Given the description of an element on the screen output the (x, y) to click on. 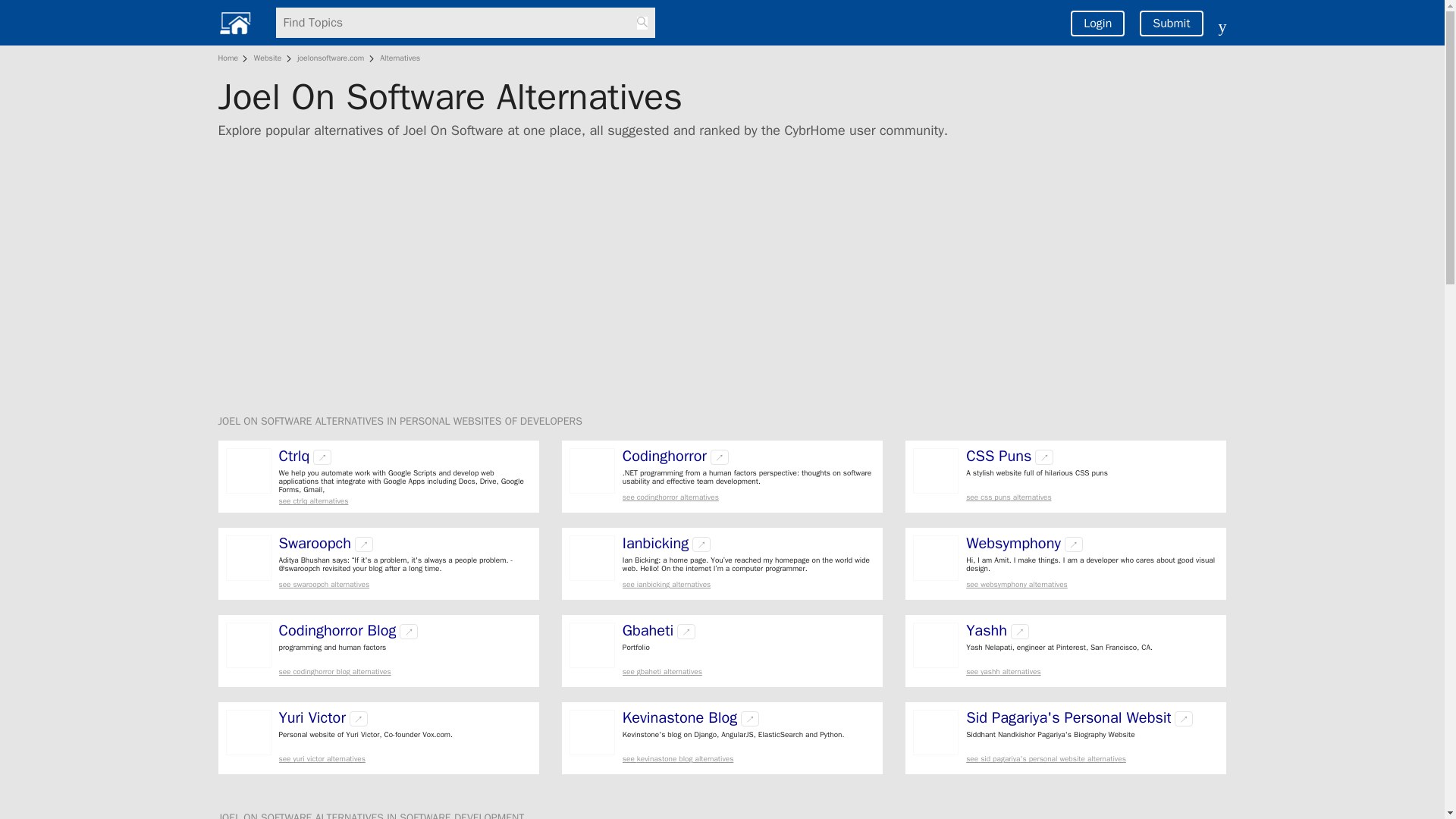
joelonsoftware.com (330, 57)
JOEL ON SOFTWARE (266, 420)
see websymphony alternatives (1092, 583)
Login (1097, 23)
see ctrlq alternatives (405, 500)
see codinghorror blog alternatives (405, 671)
see css puns alternatives (1092, 496)
Gbaheti (647, 630)
Websymphony (1013, 543)
see swaroopch alternatives (405, 583)
